Given the description of an element on the screen output the (x, y) to click on. 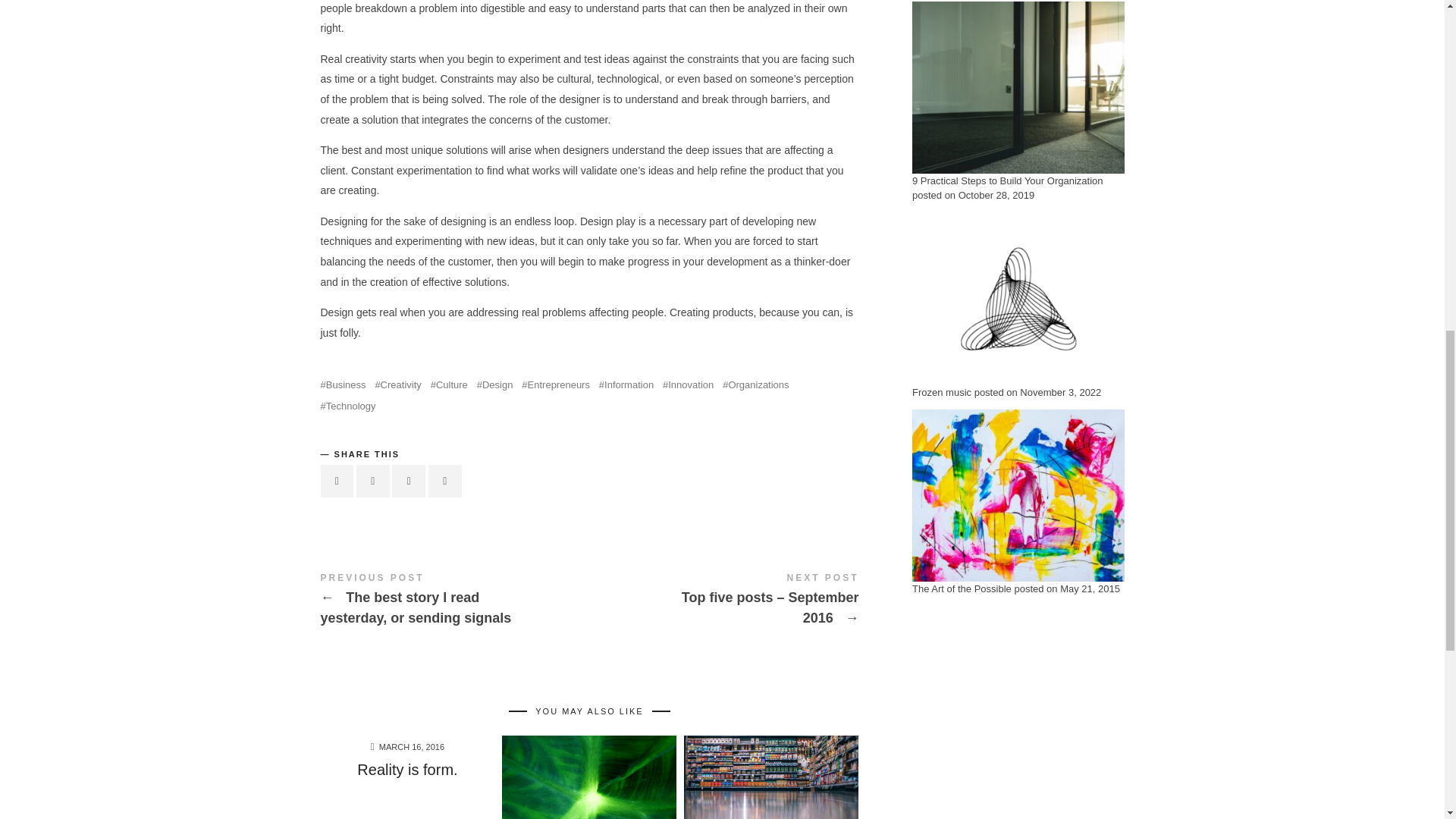
Entrepreneurs (555, 384)
Tweet this post to your followers (373, 481)
Design (495, 384)
Email this post to a friend (444, 481)
Pin it (408, 481)
Culture (448, 384)
Share this post on Facebook (336, 481)
Business (342, 384)
Creativity (397, 384)
